Given the description of an element on the screen output the (x, y) to click on. 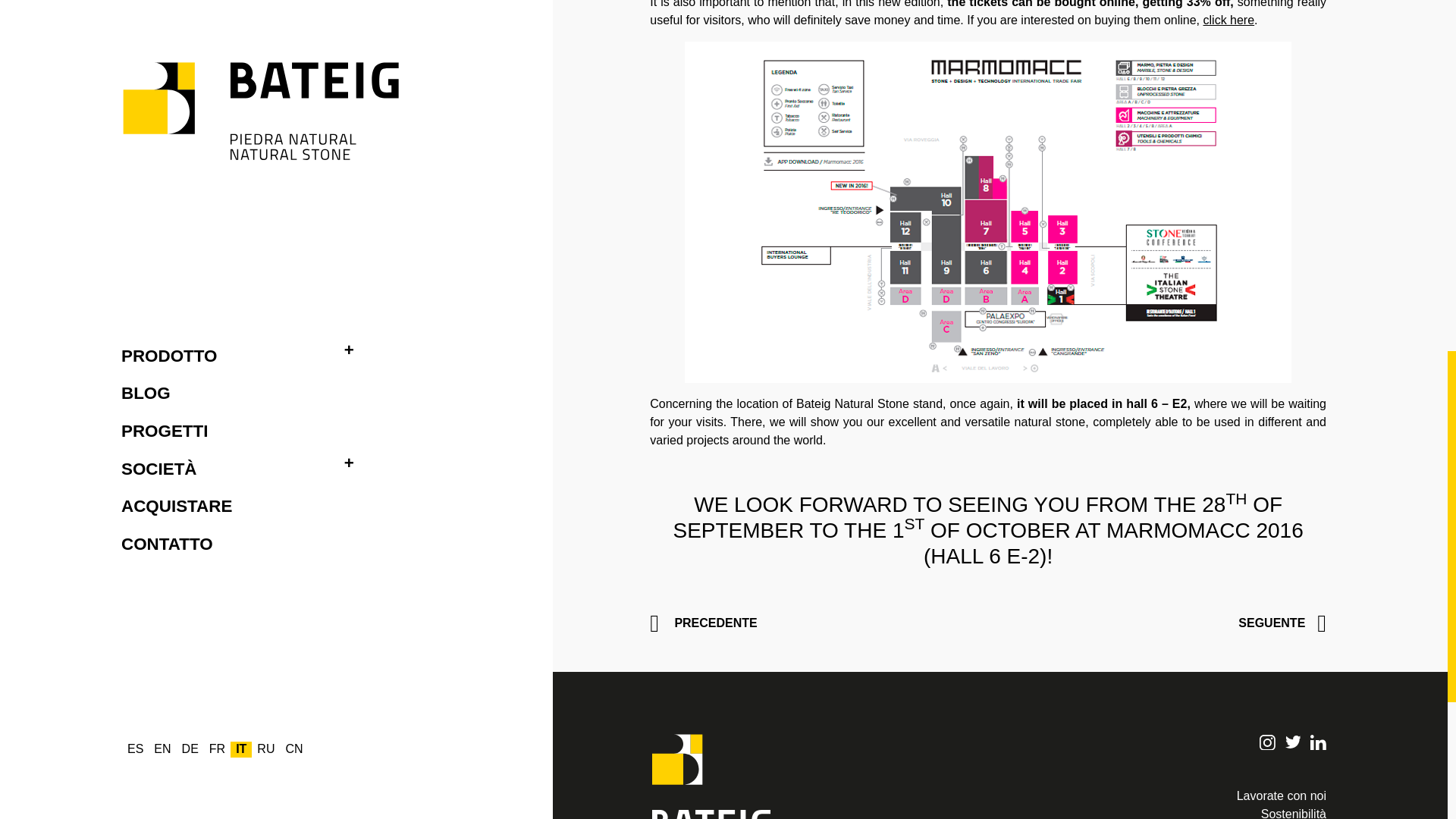
Twitter icon link (1293, 741)
Instagram icon link (1267, 742)
Linkedin icon link (1318, 742)
